Given the description of an element on the screen output the (x, y) to click on. 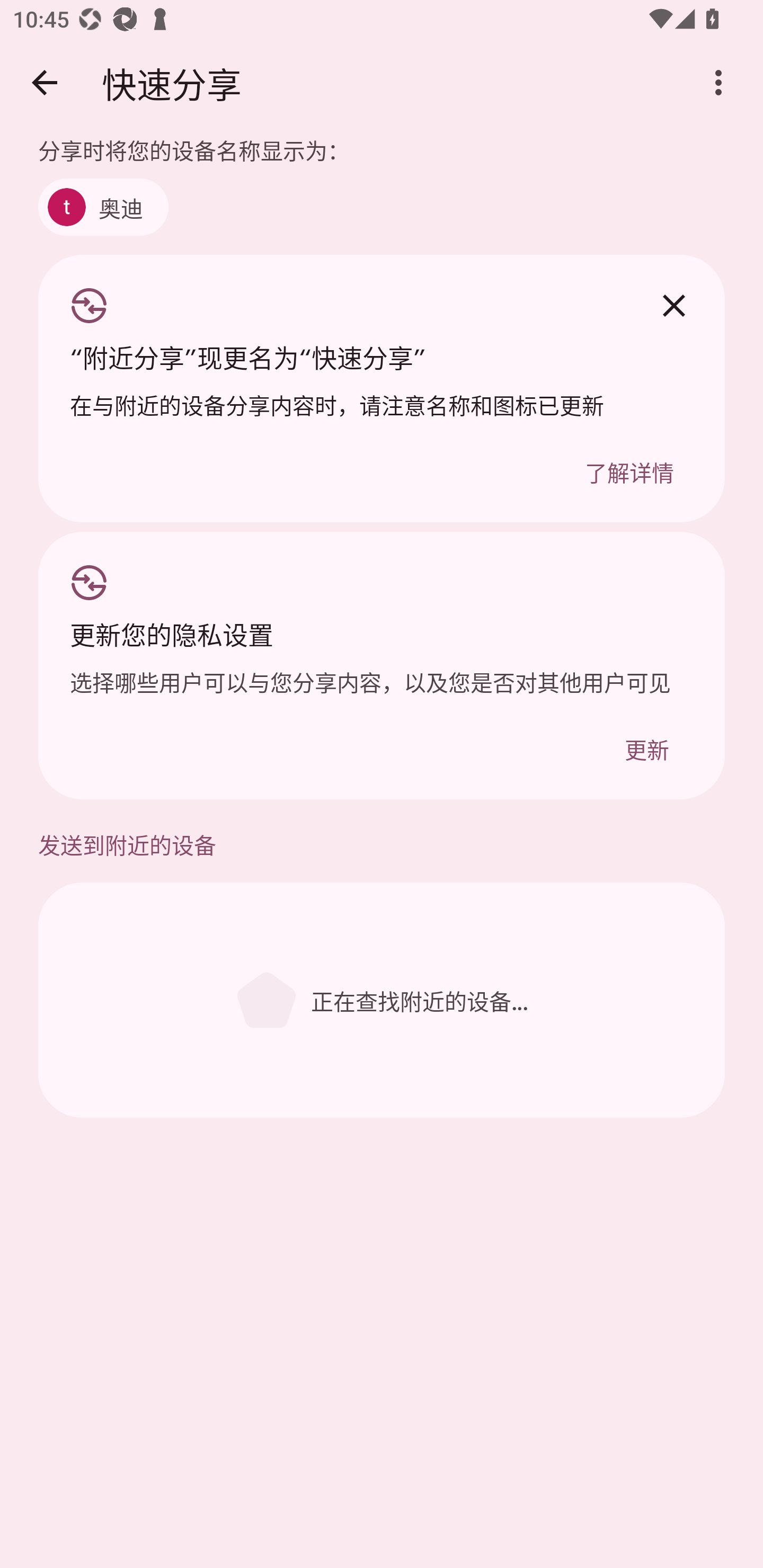
返回 (44, 81)
更多 (718, 81)
奥迪 (103, 206)
关闭 (673, 305)
了解详情 (629, 470)
更新 (646, 748)
